Given the description of an element on the screen output the (x, y) to click on. 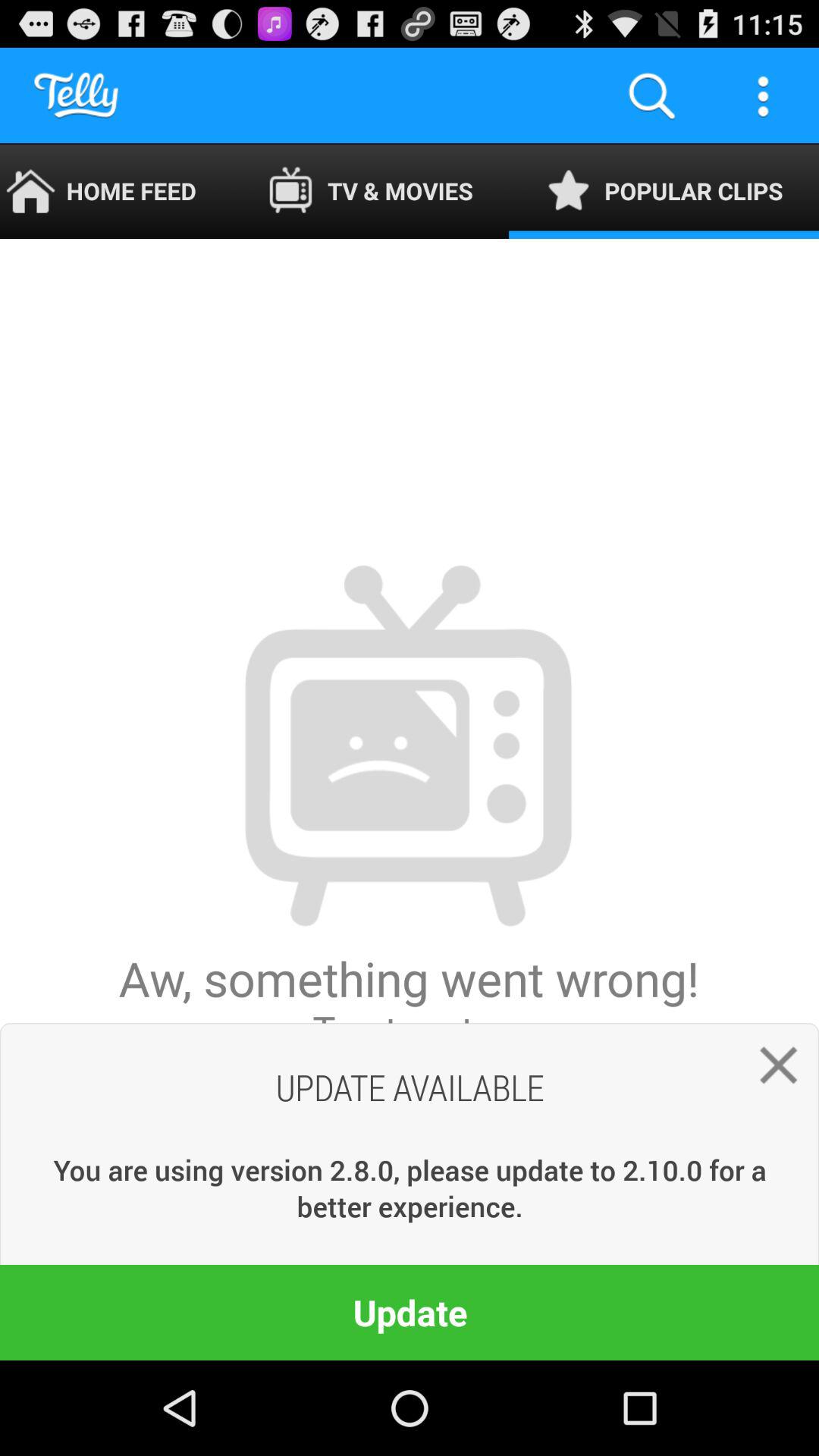
launch icon next to the tv & movies icon (651, 95)
